Given the description of an element on the screen output the (x, y) to click on. 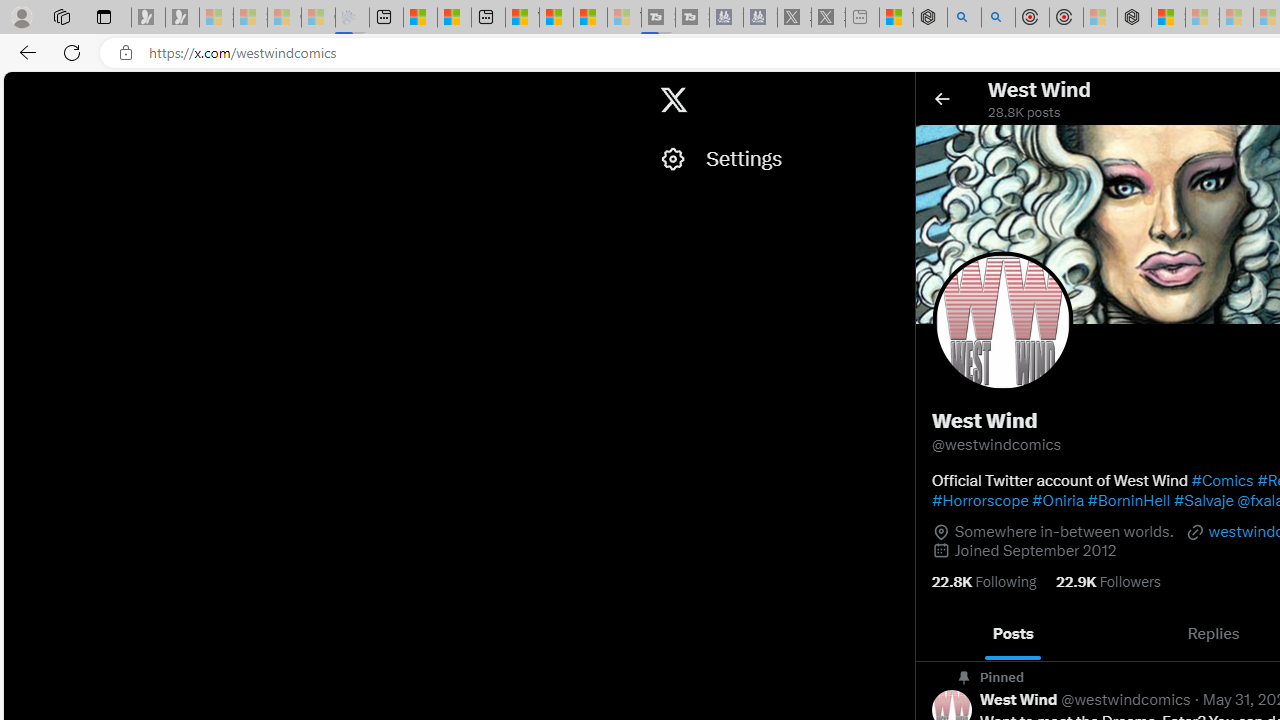
poe - Search (964, 17)
Opens profile photo (1002, 321)
#Salvaje (1202, 500)
Nordace - Nordace Siena Is Not An Ordinary Backpack (1133, 17)
#BorninHell (1128, 500)
#Oniria (1058, 500)
@westwindcomics (1125, 700)
